Given the description of an element on the screen output the (x, y) to click on. 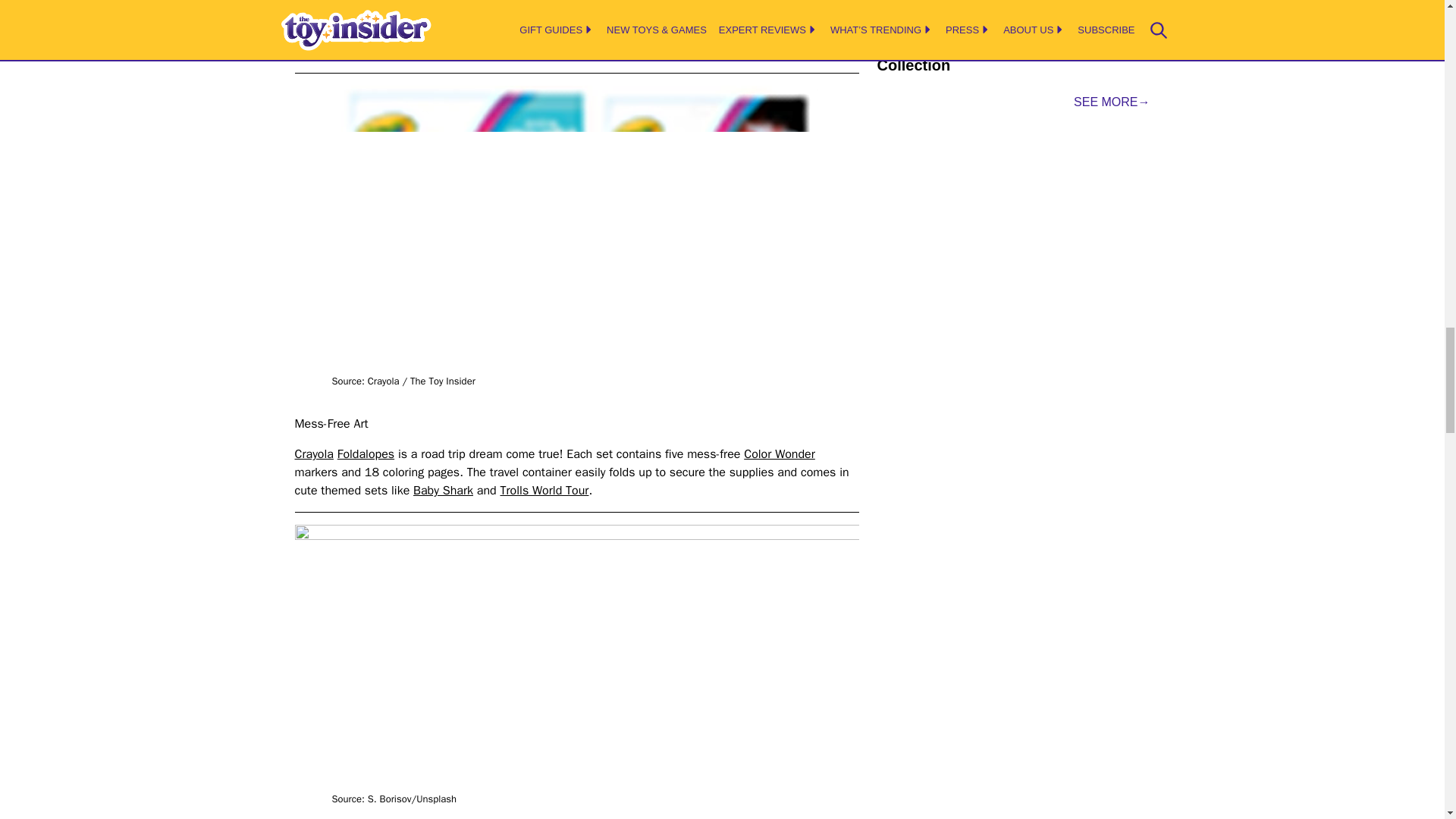
see more (1112, 102)
